Given the description of an element on the screen output the (x, y) to click on. 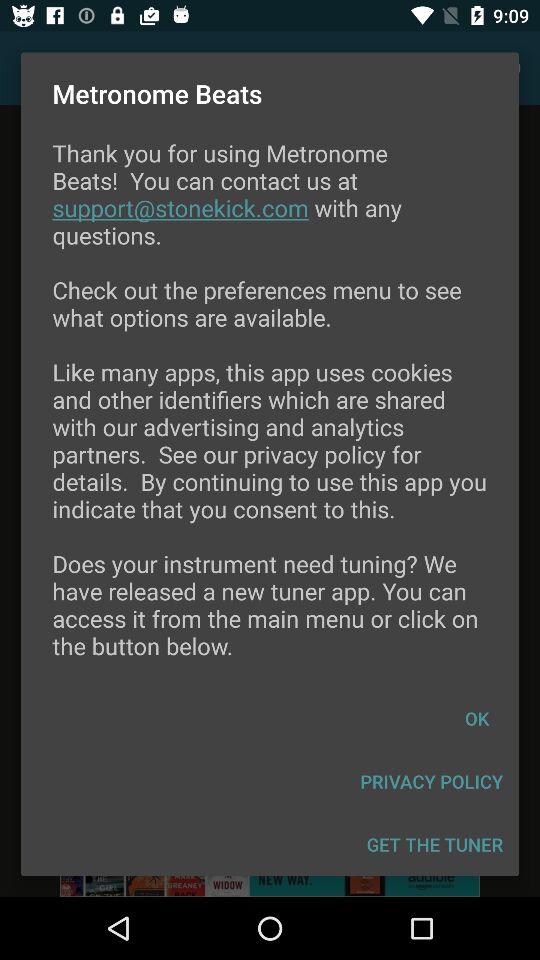
turn off thank you for icon (270, 411)
